Given the description of an element on the screen output the (x, y) to click on. 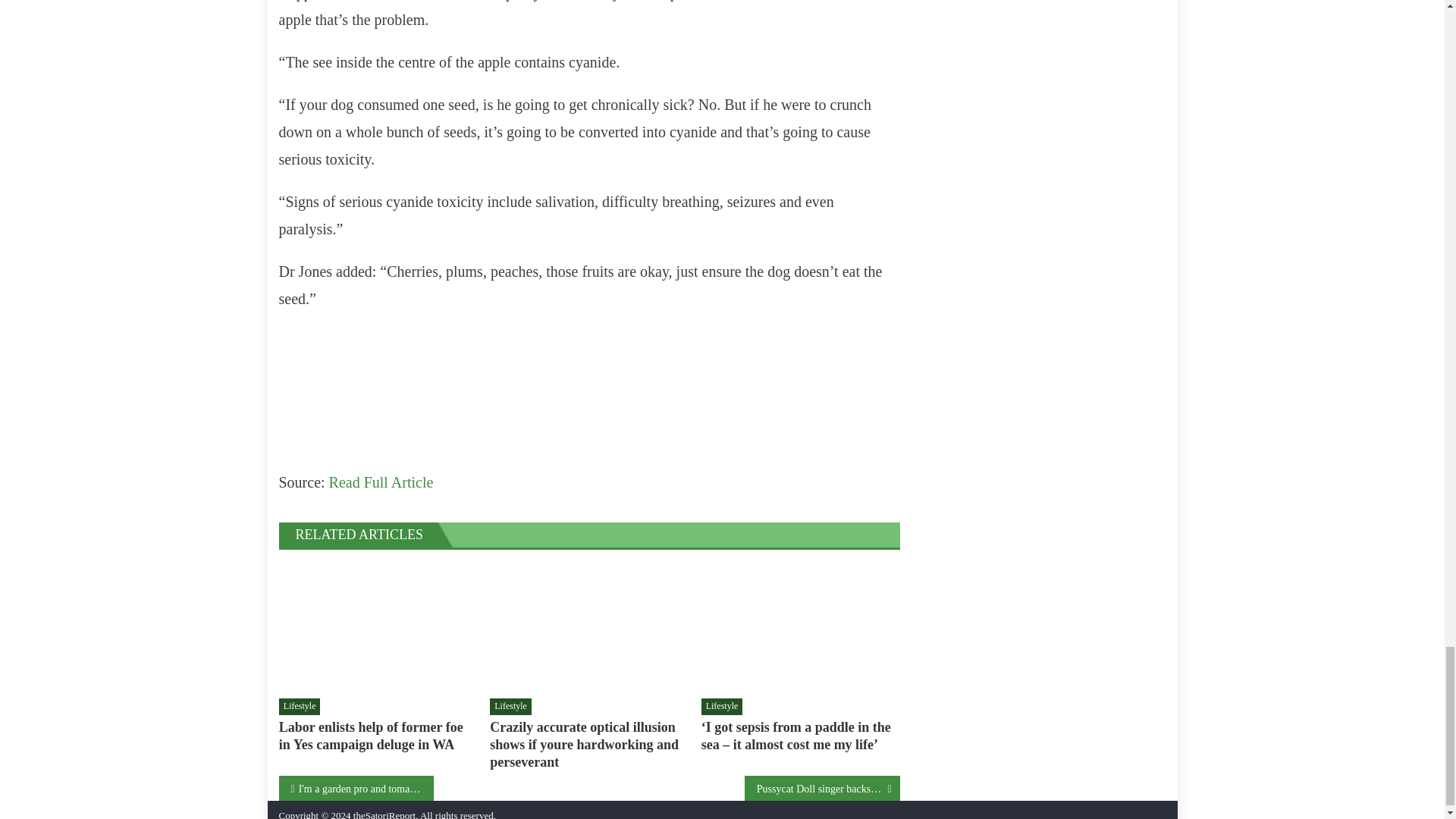
Lifestyle (510, 706)
theSatoriReport (383, 814)
Lifestyle (721, 706)
Lifestyle (299, 706)
Read Full Article (381, 482)
